Given the description of an element on the screen output the (x, y) to click on. 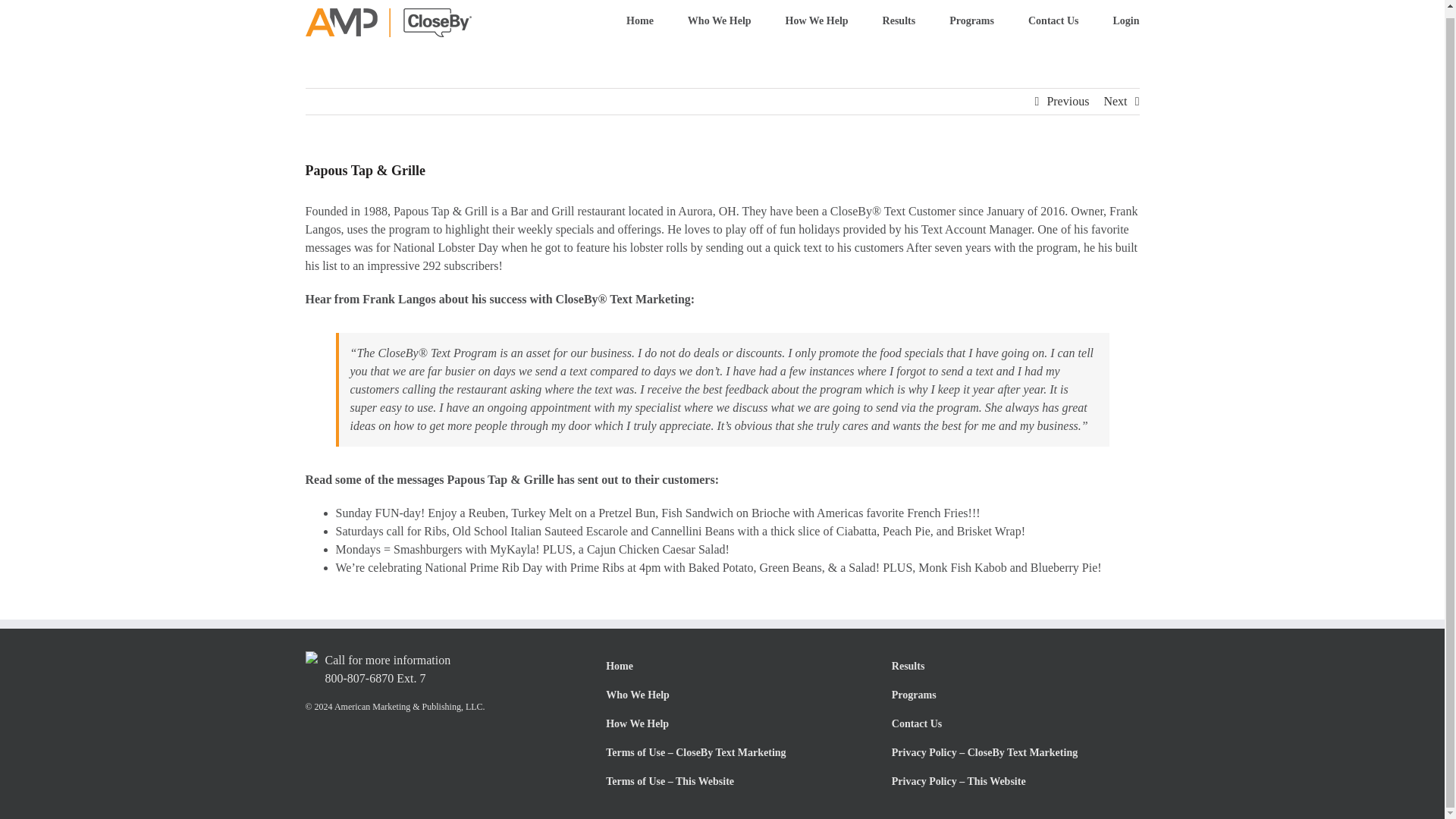
Programs (971, 22)
How We Help (722, 724)
Who We Help (722, 695)
Previous (1067, 101)
Results (1007, 665)
Results (898, 22)
Who We Help (719, 22)
Contact Us (1052, 22)
Programs (1007, 695)
Home (722, 665)
Next (1114, 101)
How We Help (817, 22)
Home (639, 22)
Login (1125, 22)
